Given the description of an element on the screen output the (x, y) to click on. 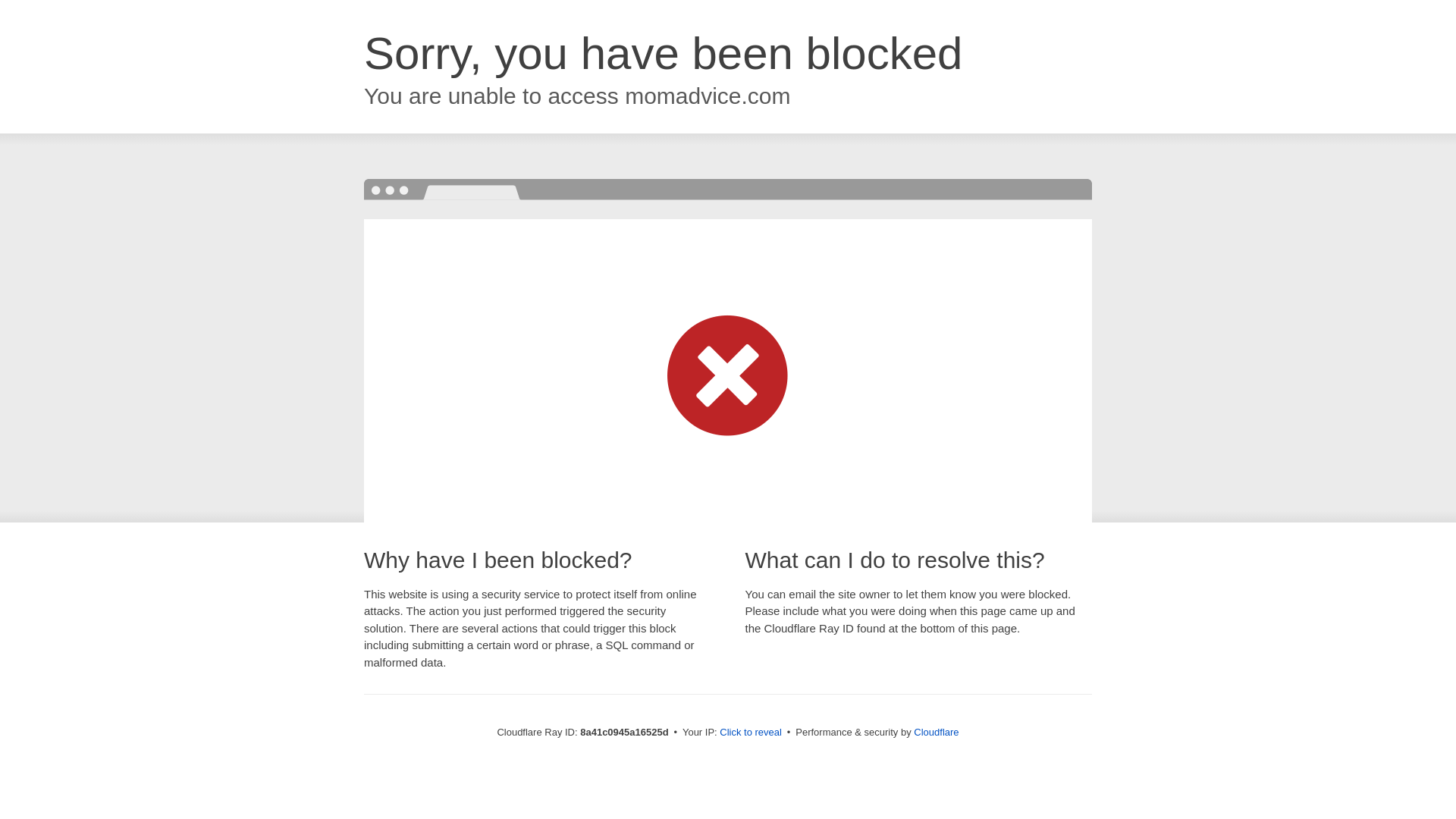
Cloudflare (936, 731)
Click to reveal (750, 732)
